Given the description of an element on the screen output the (x, y) to click on. 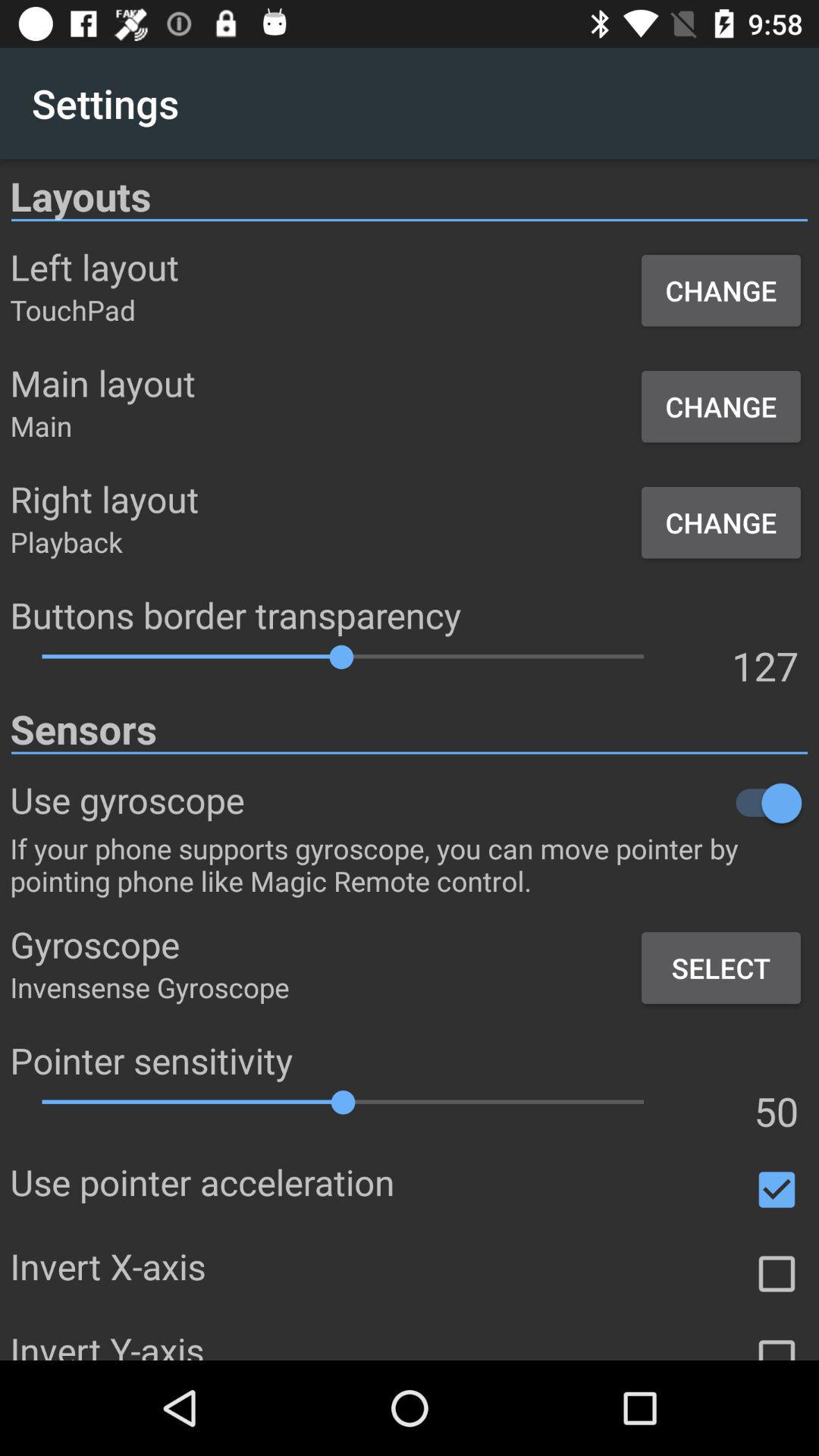
launch the item to the right of invensense gyroscope (720, 967)
